Given the description of an element on the screen output the (x, y) to click on. 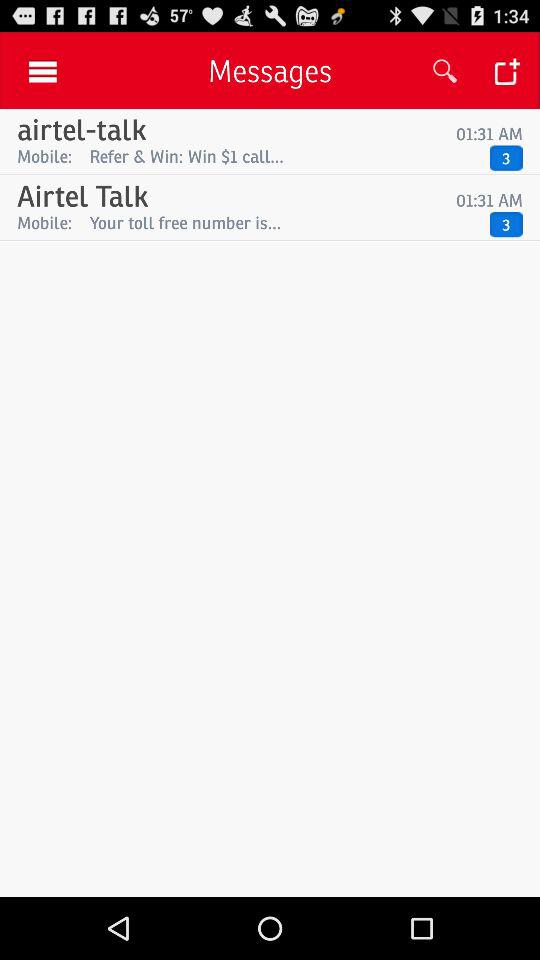
launch item to the right of the mobile: item (284, 222)
